Given the description of an element on the screen output the (x, y) to click on. 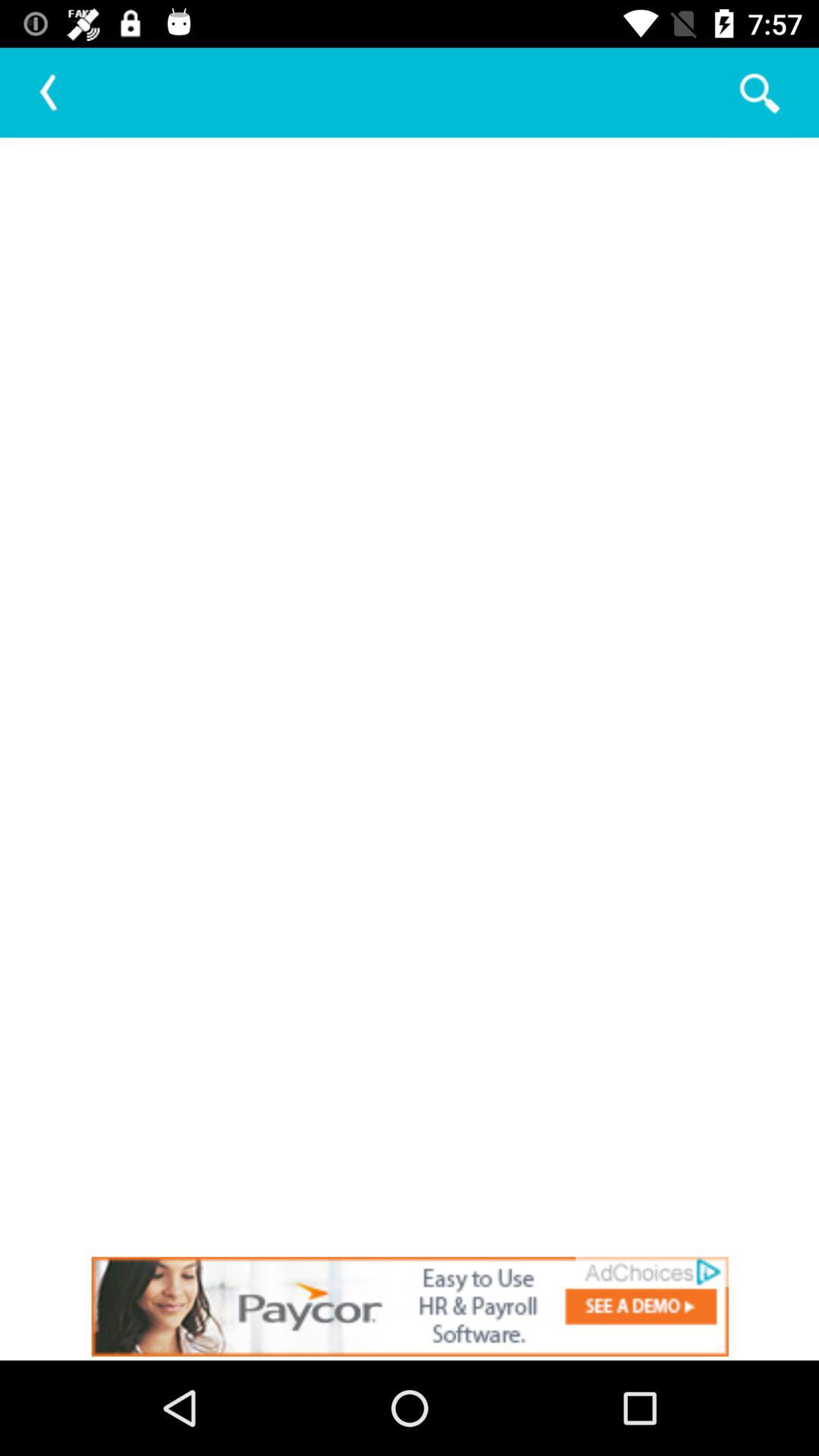
new page (409, 694)
